Given the description of an element on the screen output the (x, y) to click on. 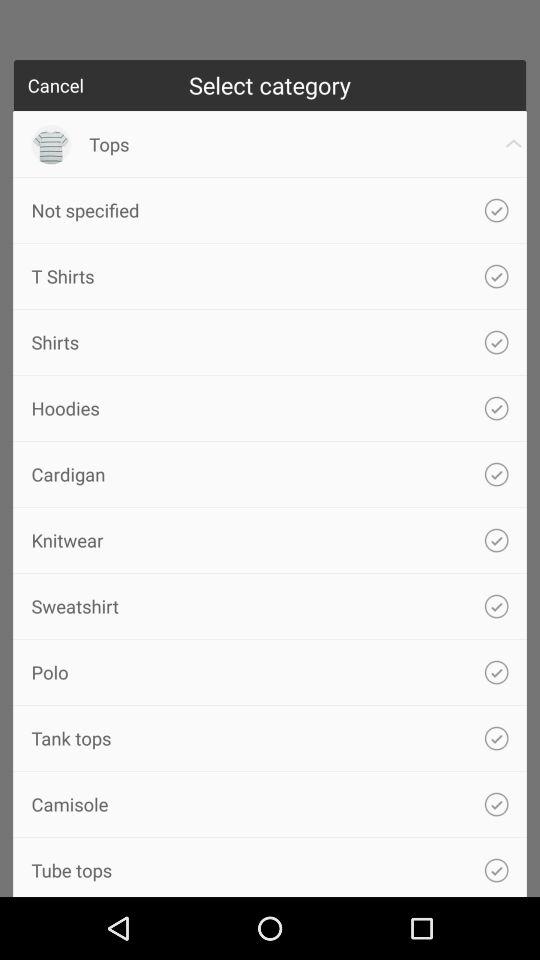
swipe to the cancel (55, 85)
